Given the description of an element on the screen output the (x, y) to click on. 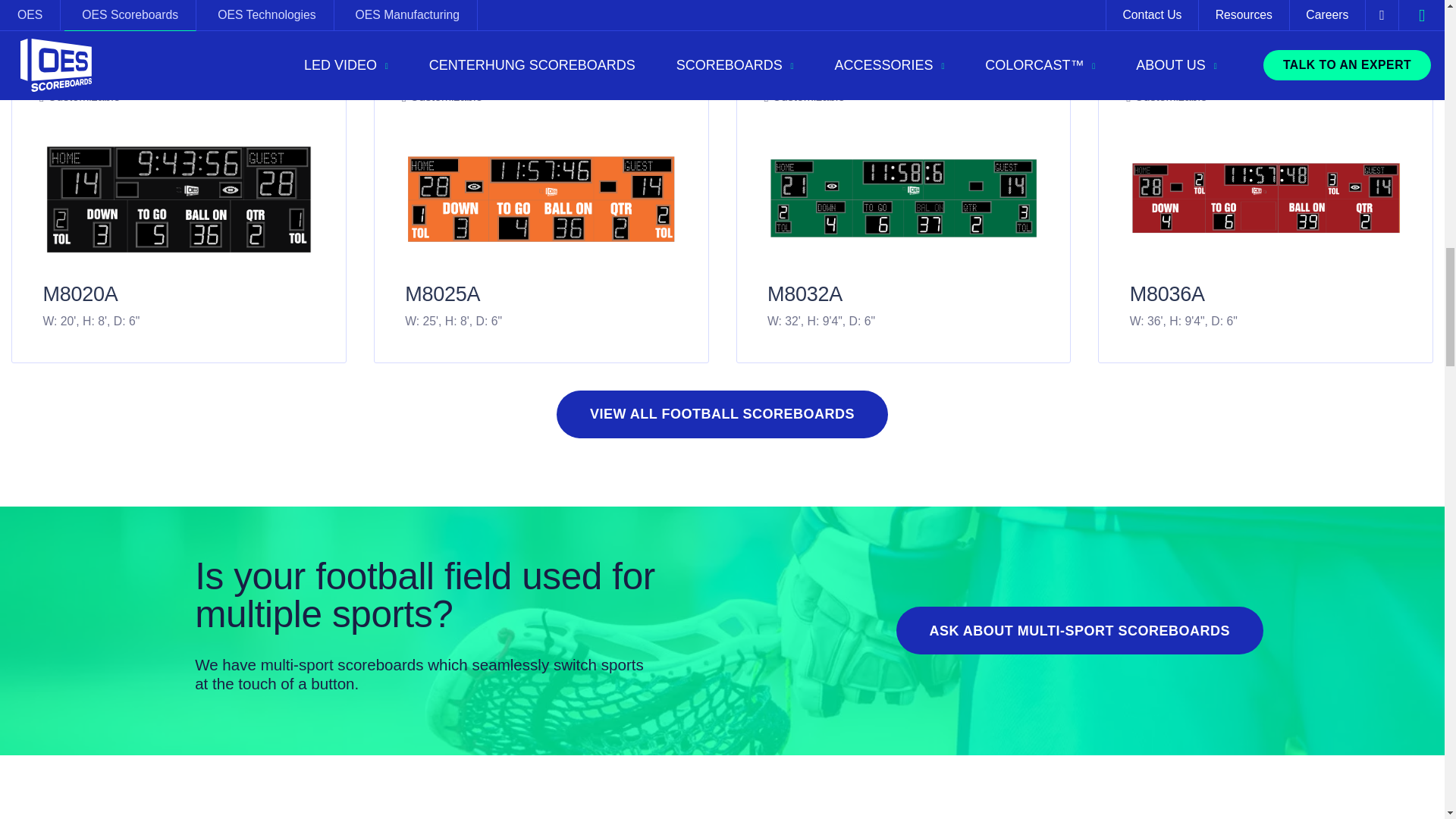
Home (1079, 630)
